Given the description of an element on the screen output the (x, y) to click on. 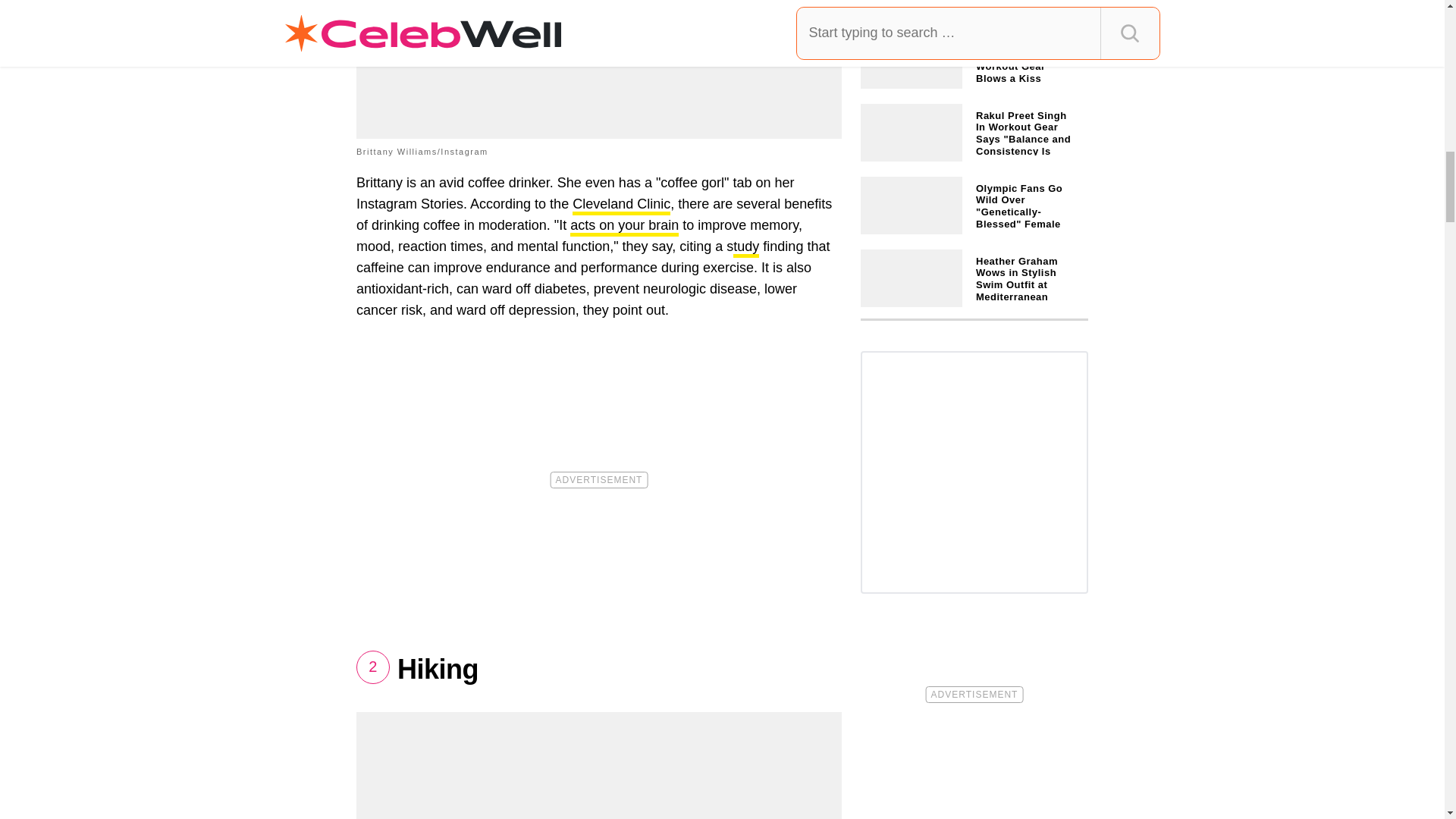
Cleveland Clinic (620, 205)
acts on your brain (624, 226)
tudy (745, 248)
